Given the description of an element on the screen output the (x, y) to click on. 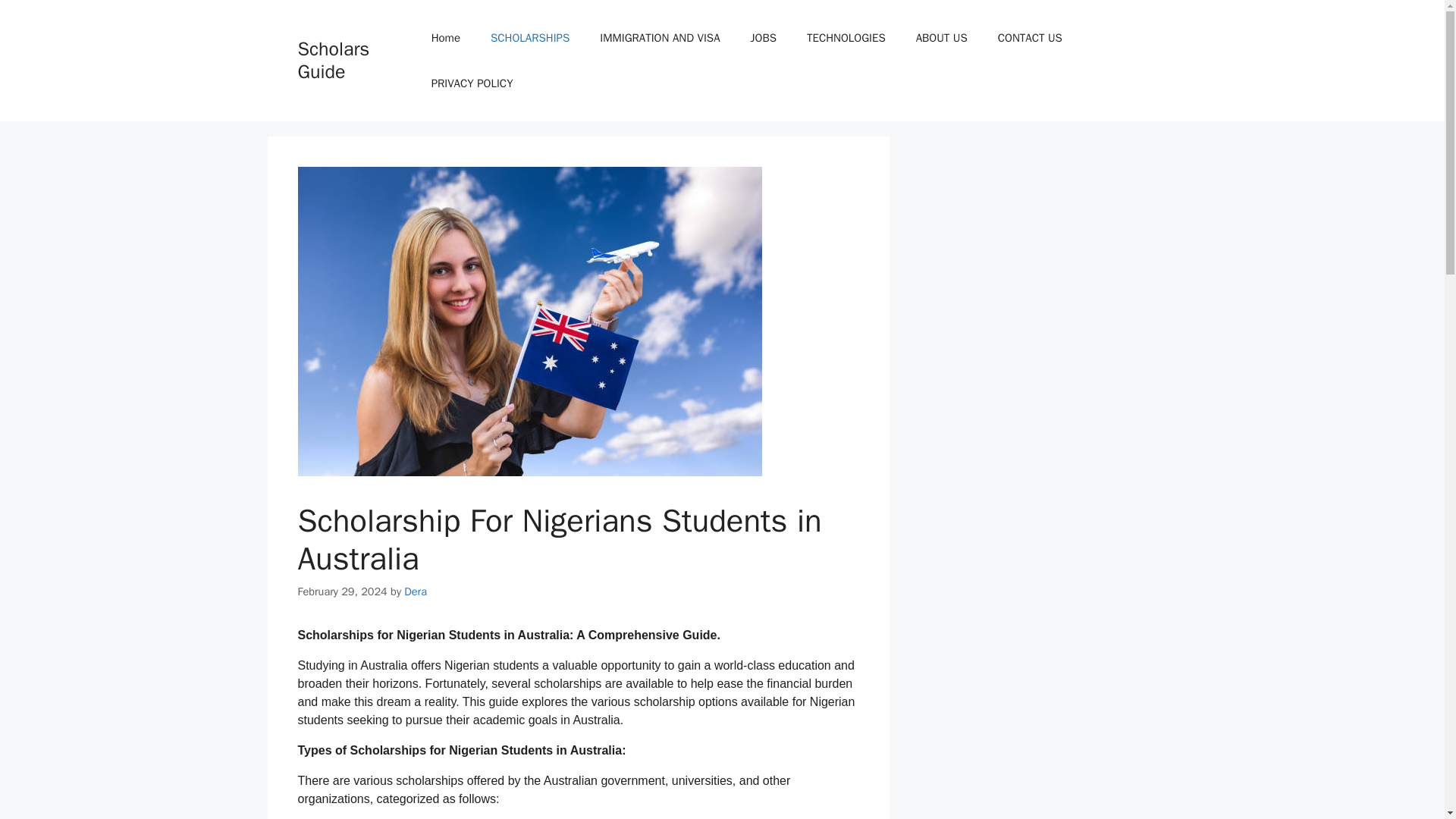
JOBS (763, 37)
TECHNOLOGIES (846, 37)
CONTACT US (1029, 37)
IMMIGRATION AND VISA (660, 37)
Home (446, 37)
View all posts by Dera (415, 591)
Dera (415, 591)
ABOUT US (941, 37)
SCHOLARSHIPS (530, 37)
Scholars Guide (333, 59)
